Given the description of an element on the screen output the (x, y) to click on. 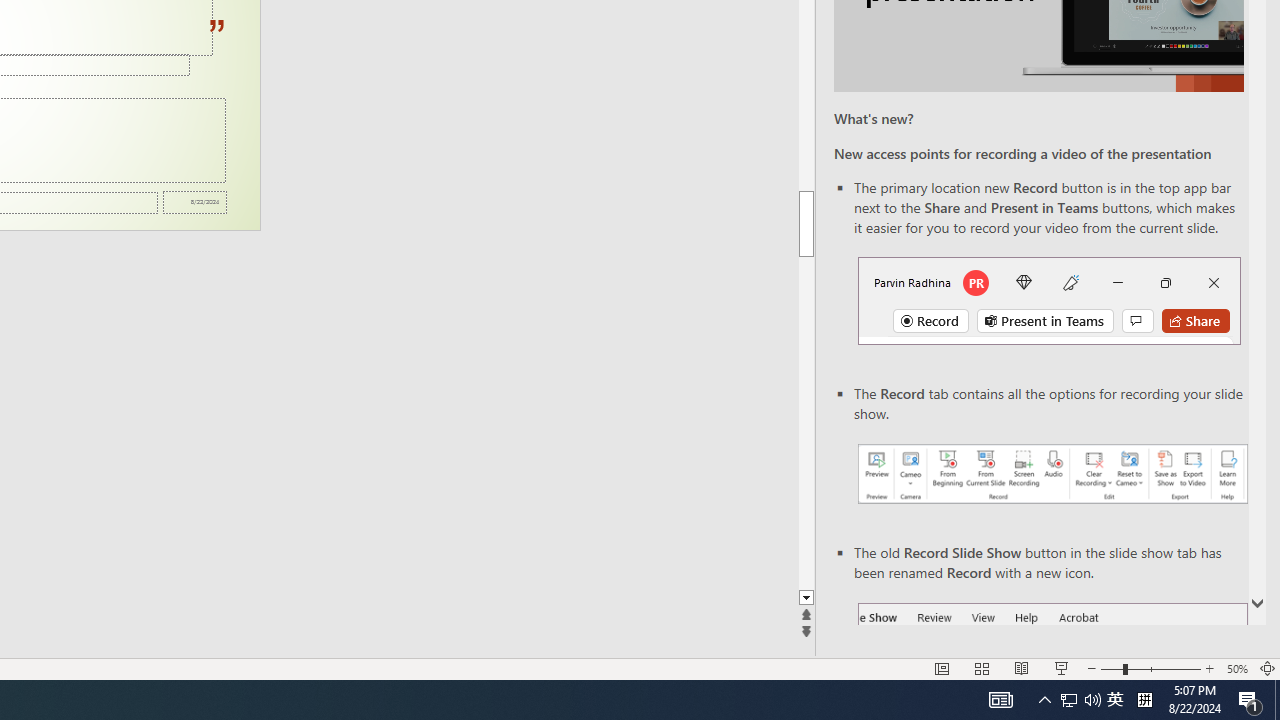
Record button in top bar (1049, 300)
Zoom 50% (1236, 668)
Date (194, 201)
Record your presentations screenshot one (1052, 473)
